Given the description of an element on the screen output the (x, y) to click on. 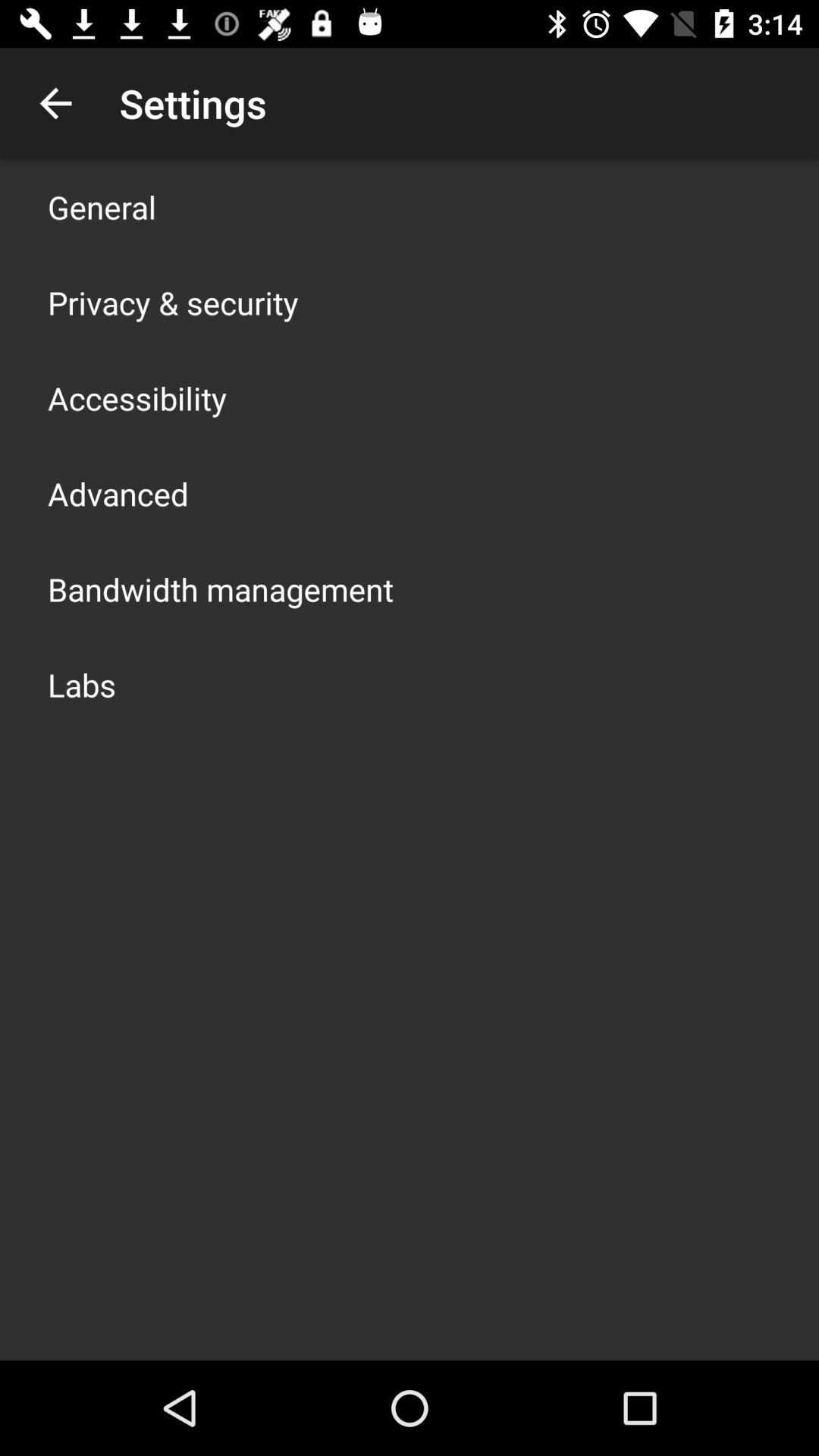
jump until bandwidth management app (220, 588)
